Given the description of an element on the screen output the (x, y) to click on. 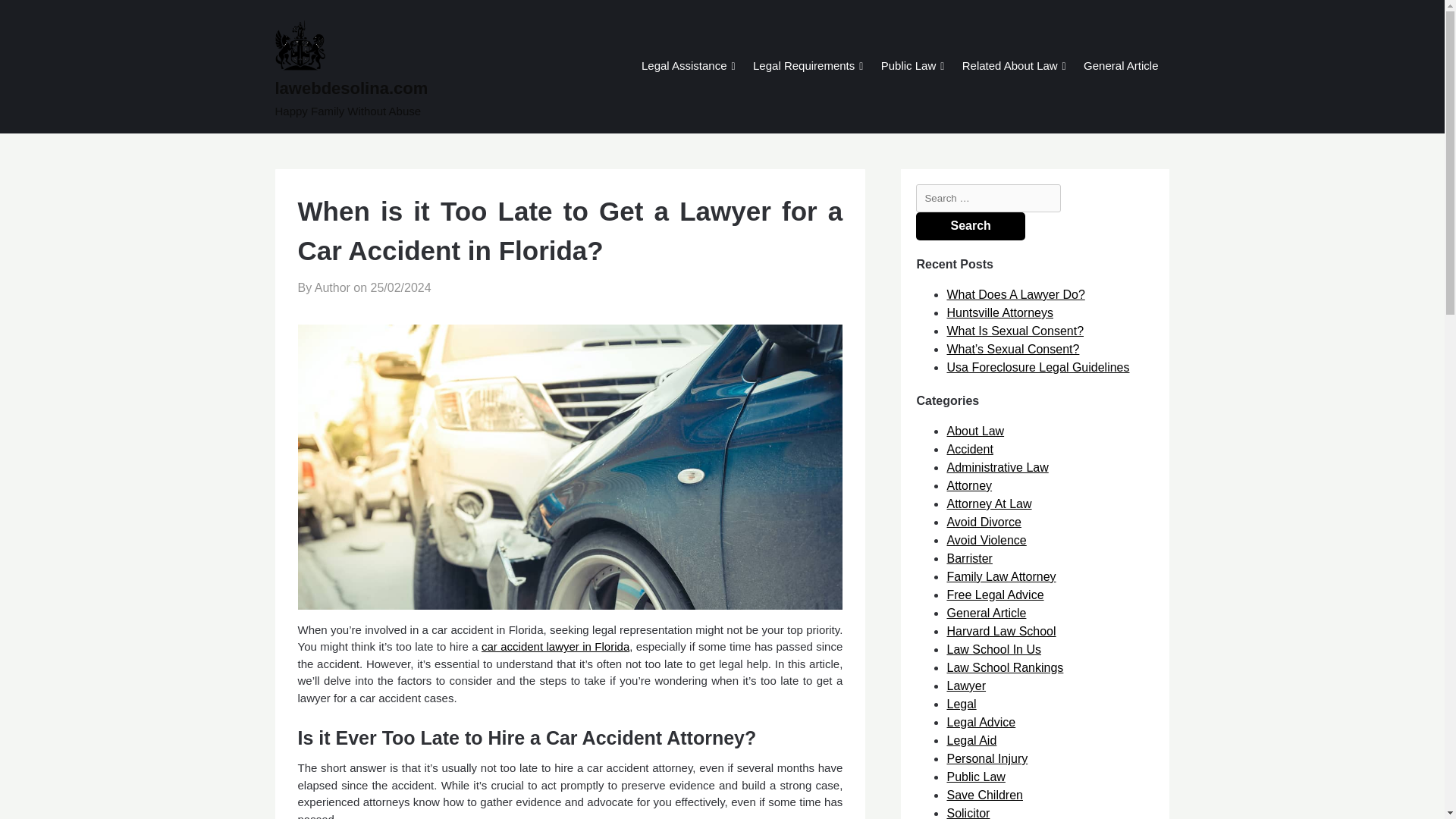
lawebdesolina.com (409, 88)
Search (970, 226)
Legal Requirements (803, 66)
General Article (1120, 66)
Search (970, 226)
car accident lawyer in Florida (554, 645)
Legal Assistance (684, 66)
Public Law (908, 66)
Related About Law (1009, 66)
